Given the description of an element on the screen output the (x, y) to click on. 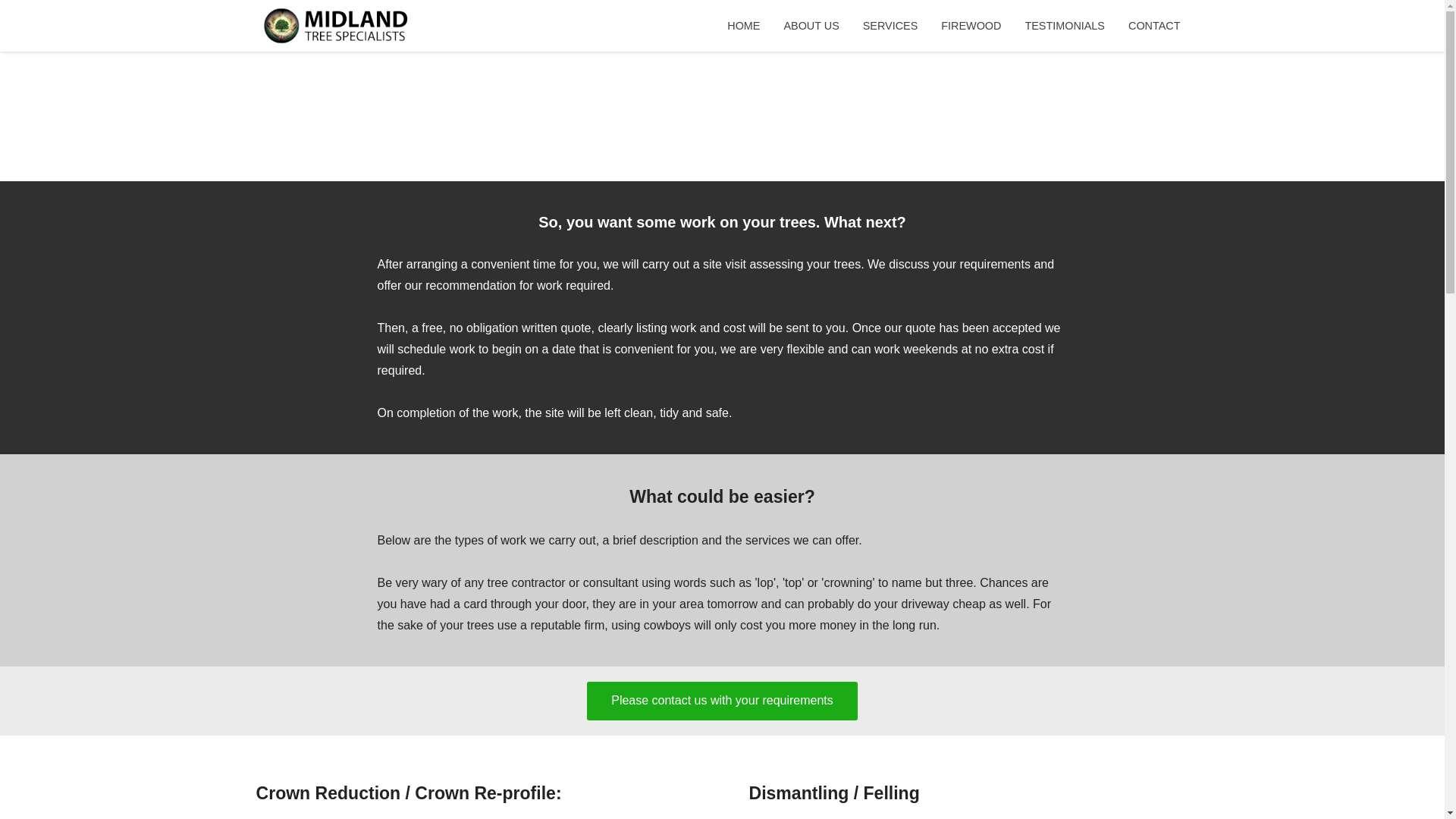
HOME (743, 25)
TESTIMONIALS (1064, 25)
ABOUT US (810, 25)
Please contact us with your requirements (721, 700)
FIREWOOD (970, 25)
CONTACT (1153, 25)
SERVICES (890, 25)
